Given the description of an element on the screen output the (x, y) to click on. 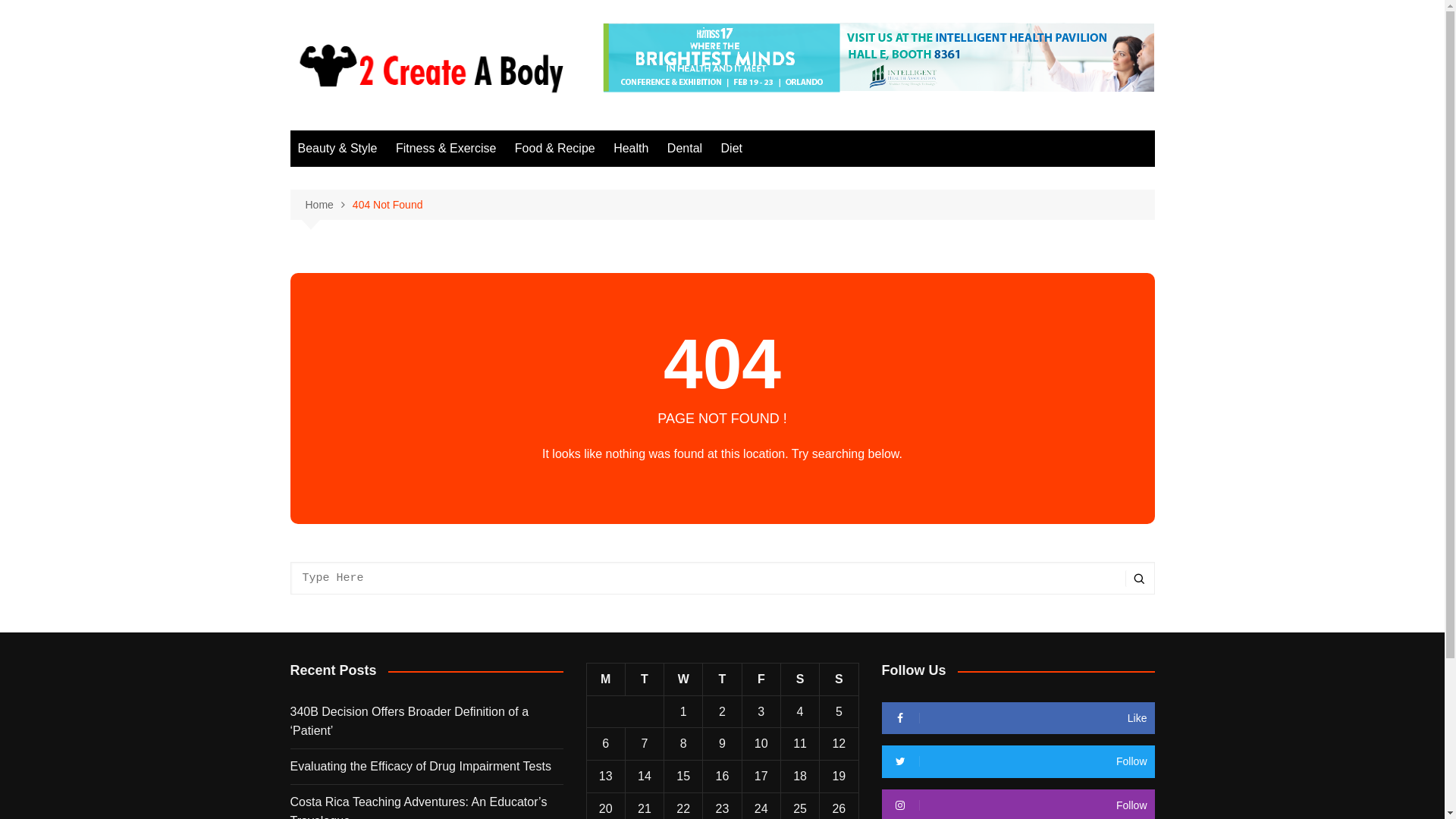
22 Element type: text (683, 808)
404 Not Found Element type: text (387, 204)
Food & Recipe Element type: text (554, 148)
Fitness & Exercise Element type: text (445, 148)
3 Element type: text (760, 711)
Evaluating the Efficacy of Drug Impairment Tests Element type: text (425, 766)
Home Element type: text (327, 204)
Follow Element type: text (1017, 761)
Beauty & Style Element type: text (336, 148)
18 Element type: text (799, 775)
Like Element type: text (1017, 718)
Health Element type: text (630, 148)
17 Element type: text (761, 775)
Diet Element type: text (731, 148)
Dental Element type: text (684, 148)
